Given the description of an element on the screen output the (x, y) to click on. 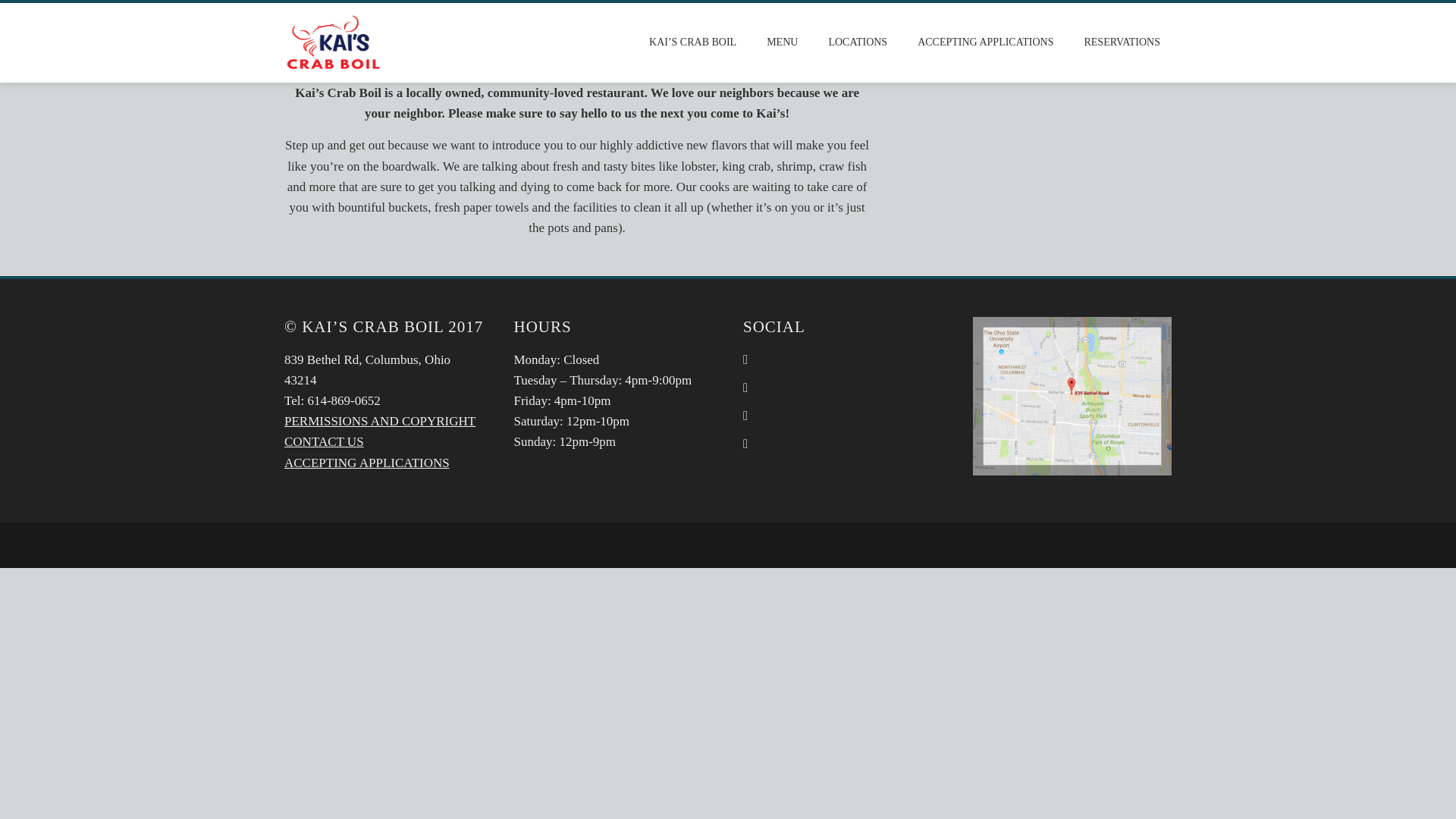
MENU (782, 42)
PERMISSIONS AND COPYRIGHT (379, 421)
CONTACT US (323, 441)
ACCEPTING APPLICATIONS (366, 462)
RESERVATIONS (1121, 42)
LOCATIONS (857, 42)
ACCEPTING APPLICATIONS (984, 42)
